Given the description of an element on the screen output the (x, y) to click on. 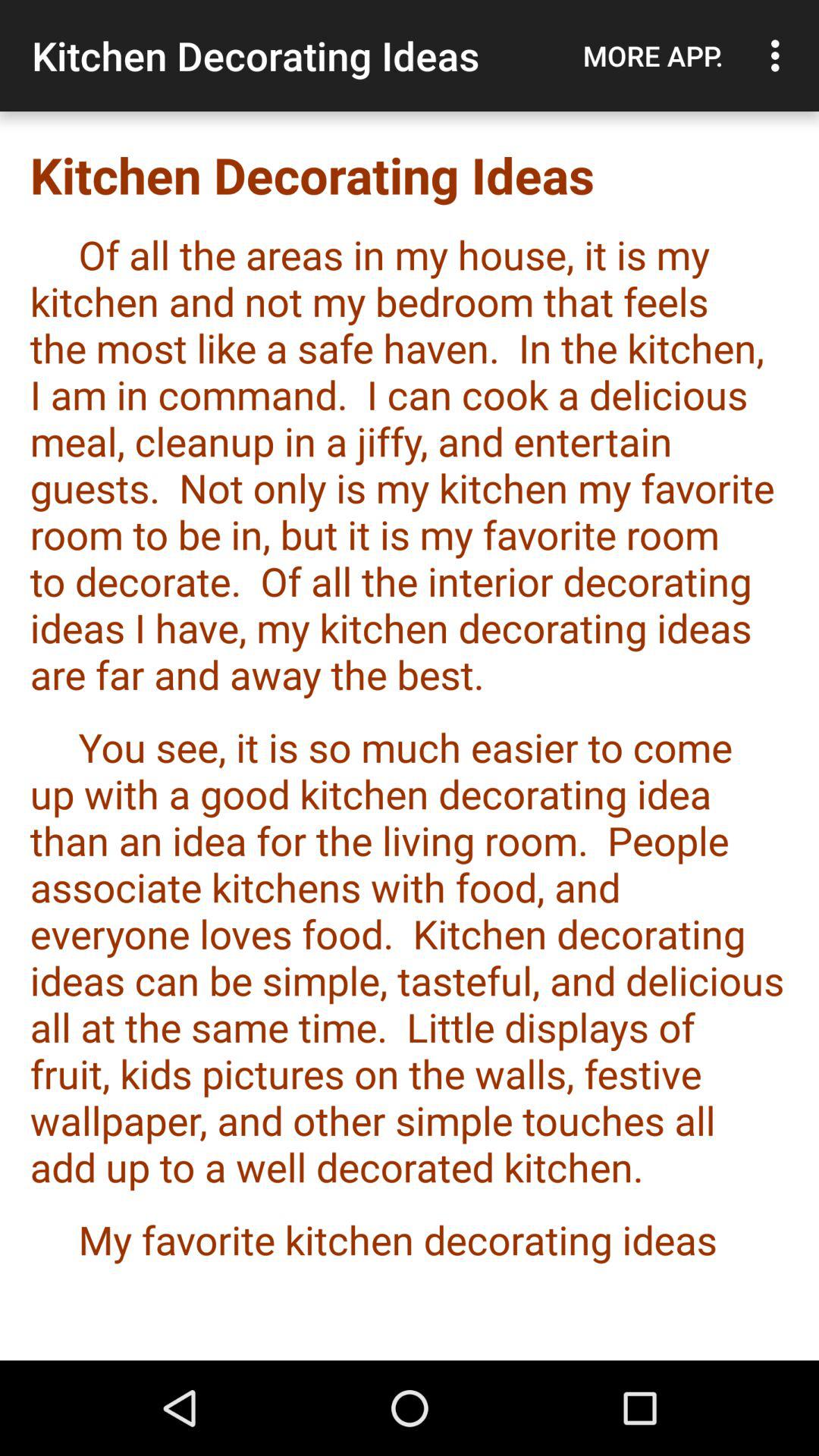
open the icon above kitchen decorating ideas icon (779, 55)
